Given the description of an element on the screen output the (x, y) to click on. 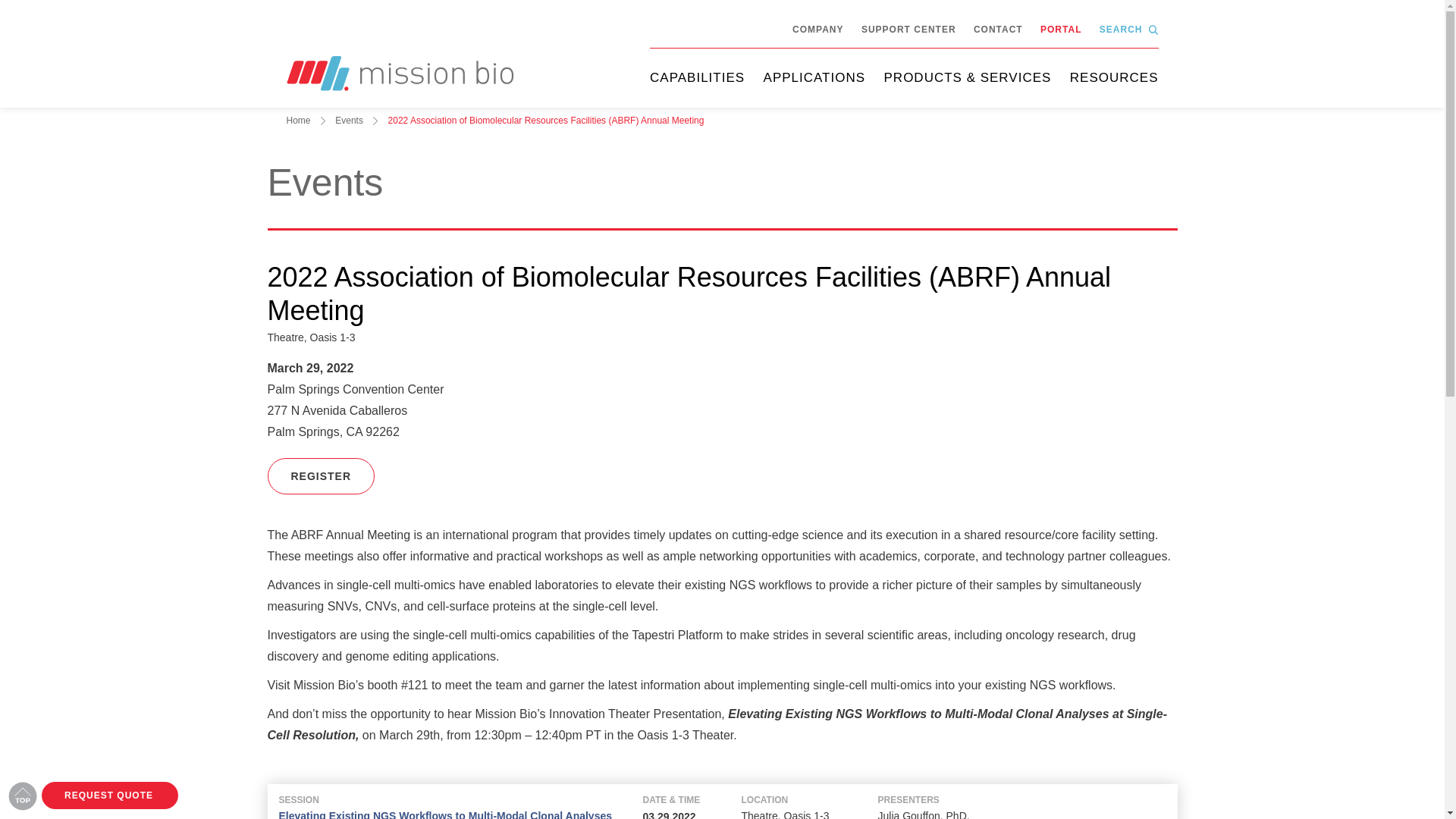
CONTACT (998, 29)
COMPANY (817, 29)
SUPPORT CENTER (908, 29)
